Given the description of an element on the screen output the (x, y) to click on. 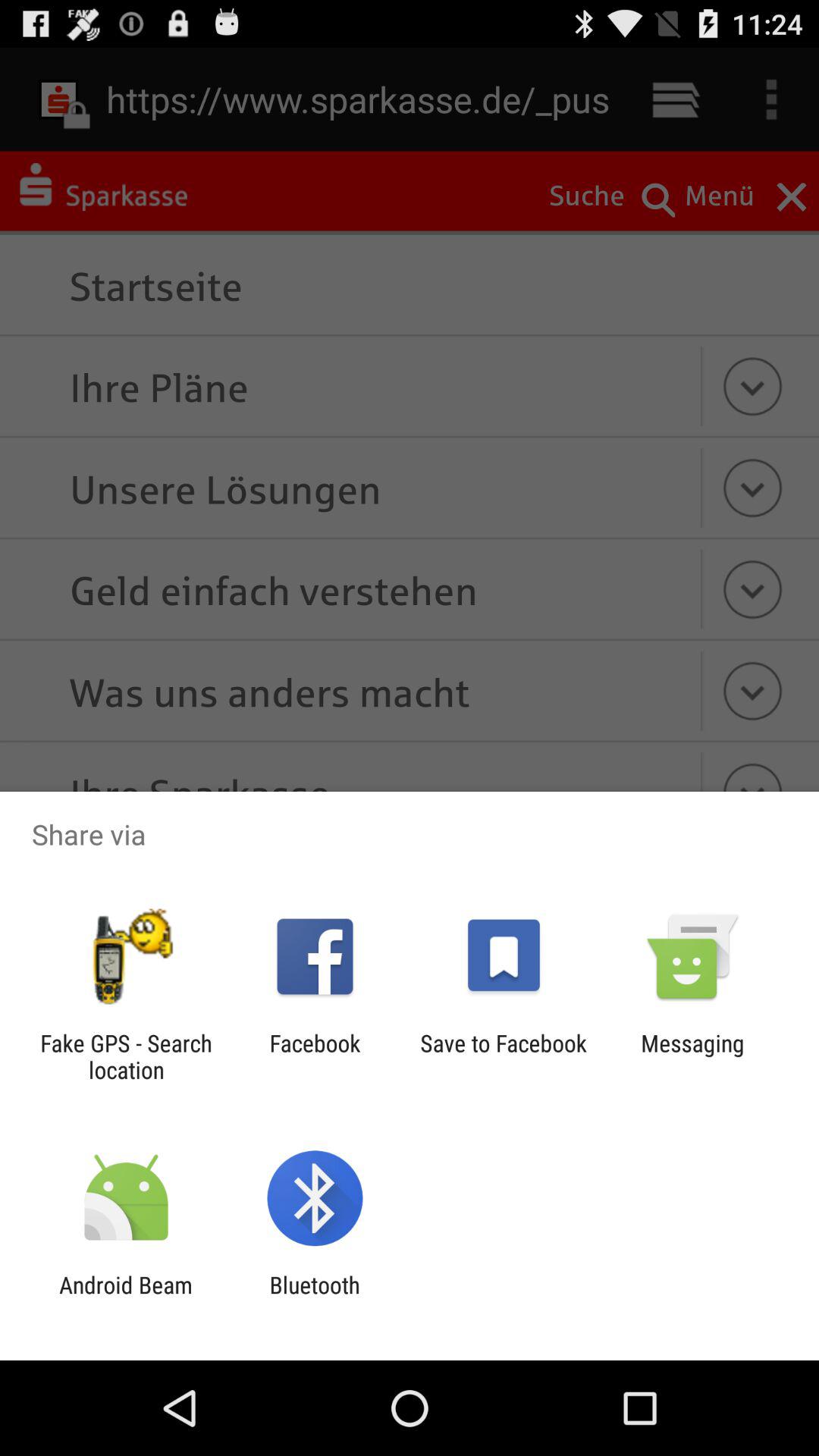
choose the icon next to the facebook app (125, 1056)
